Given the description of an element on the screen output the (x, y) to click on. 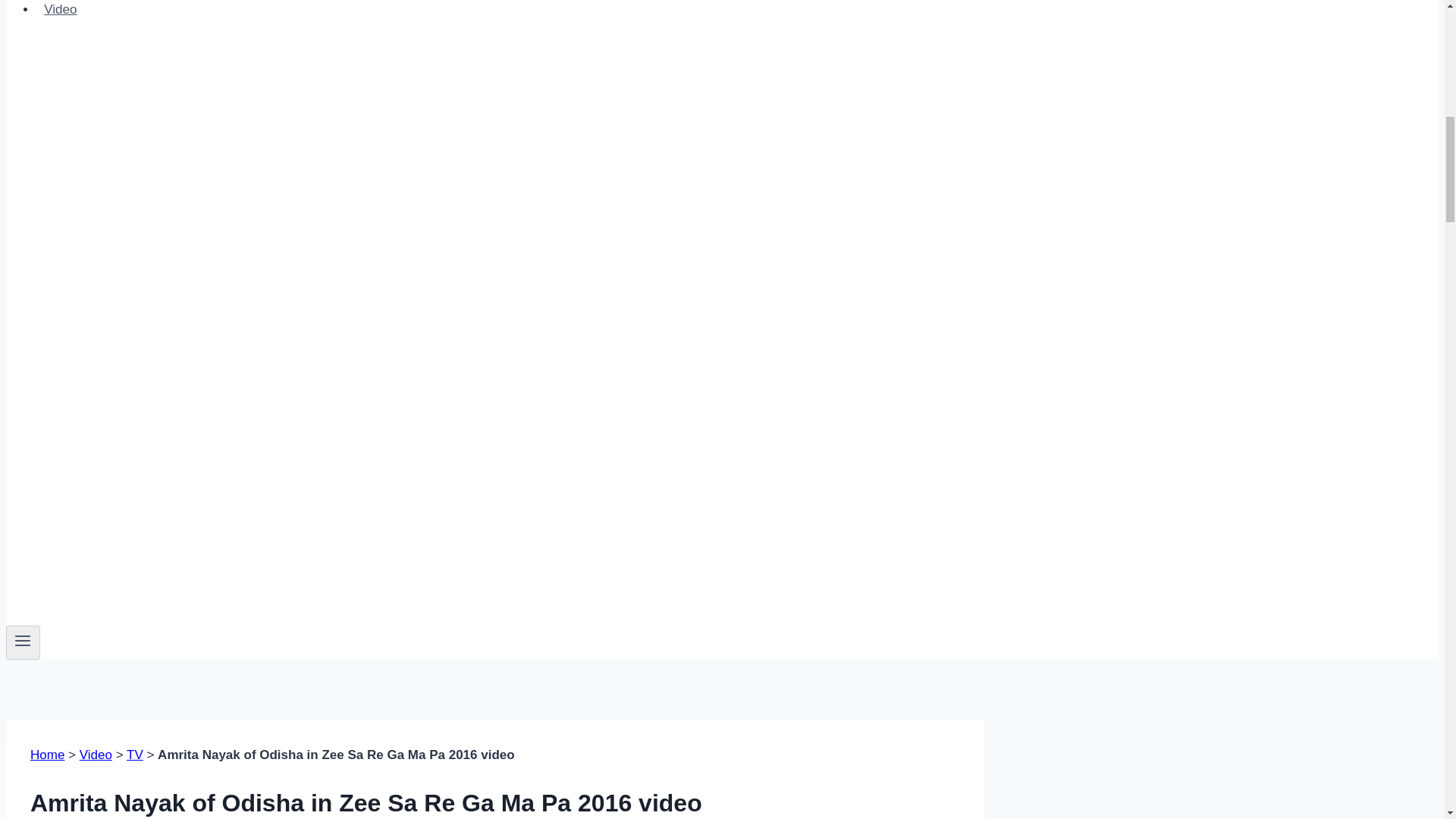
Home (47, 754)
Video (96, 754)
Video (60, 12)
Toggle Menu (22, 642)
Photos (63, 2)
TV (134, 754)
Toggle Menu (22, 640)
